Given the description of an element on the screen output the (x, y) to click on. 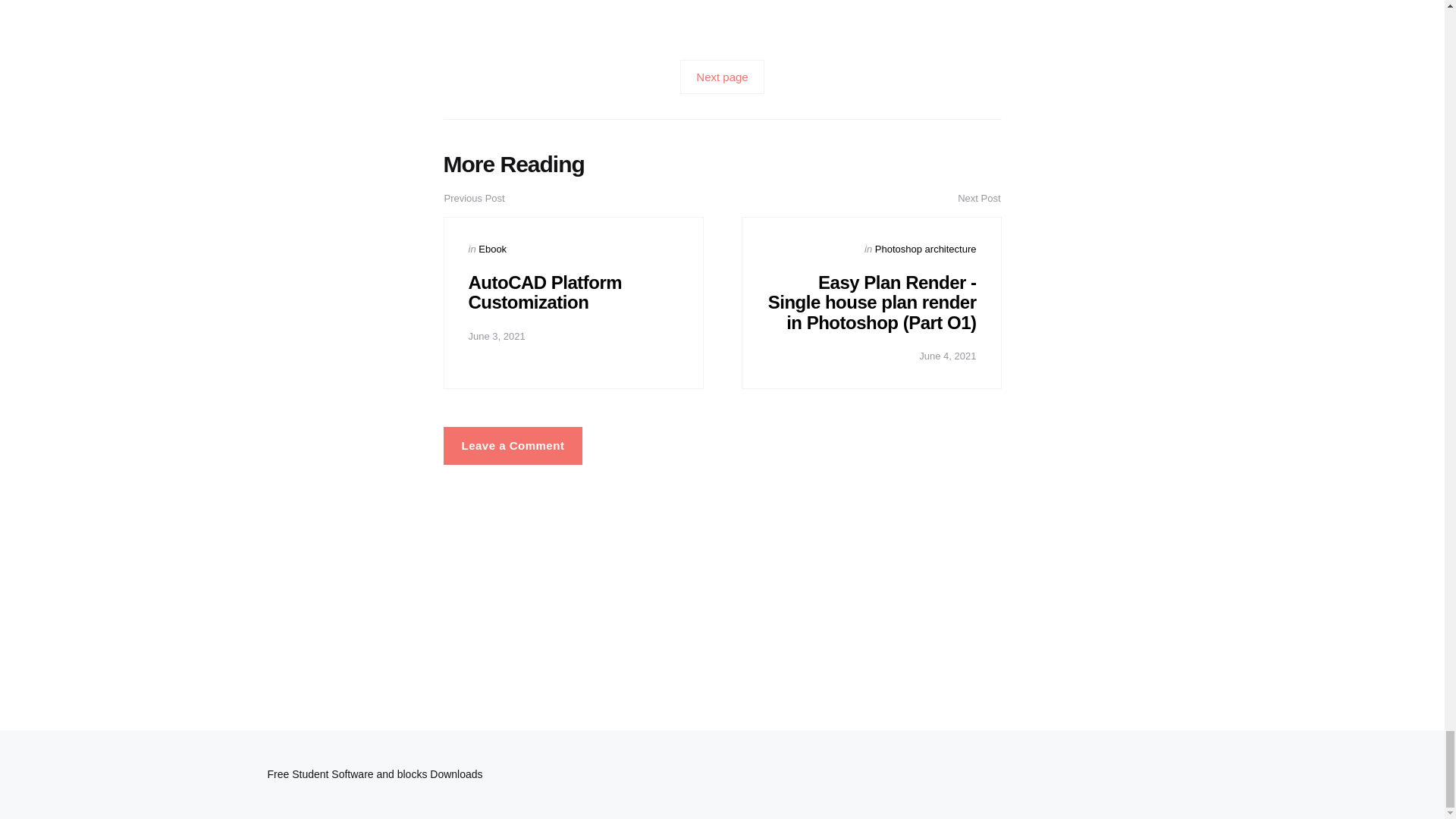
AutoCAD Platform Customization (545, 291)
Photoshop architecture (925, 248)
Next page (720, 76)
Ebook (492, 248)
